Given the description of an element on the screen output the (x, y) to click on. 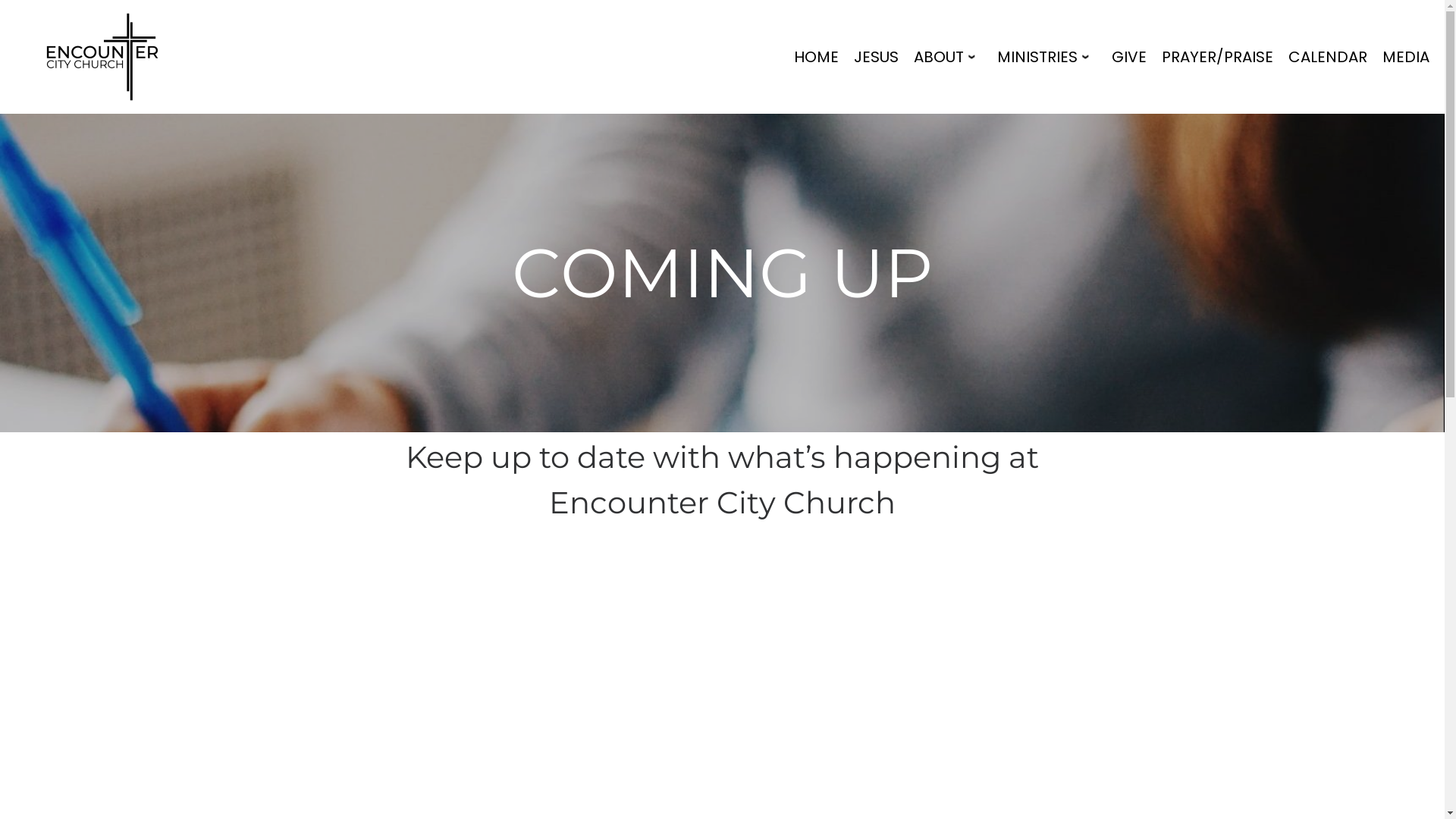
JESUS Element type: text (876, 56)
MEDIA Element type: text (1405, 56)
GIVE Element type: text (1128, 56)
MINISTRIES Element type: text (1046, 56)
Skip to content Element type: text (0, 0)
CALENDAR Element type: text (1327, 56)
ABOUT Element type: text (948, 56)
PRAYER/PRAISE Element type: text (1217, 56)
HOME Element type: text (816, 56)
ECC - Logo Element type: hover (102, 56)
